Given the description of an element on the screen output the (x, y) to click on. 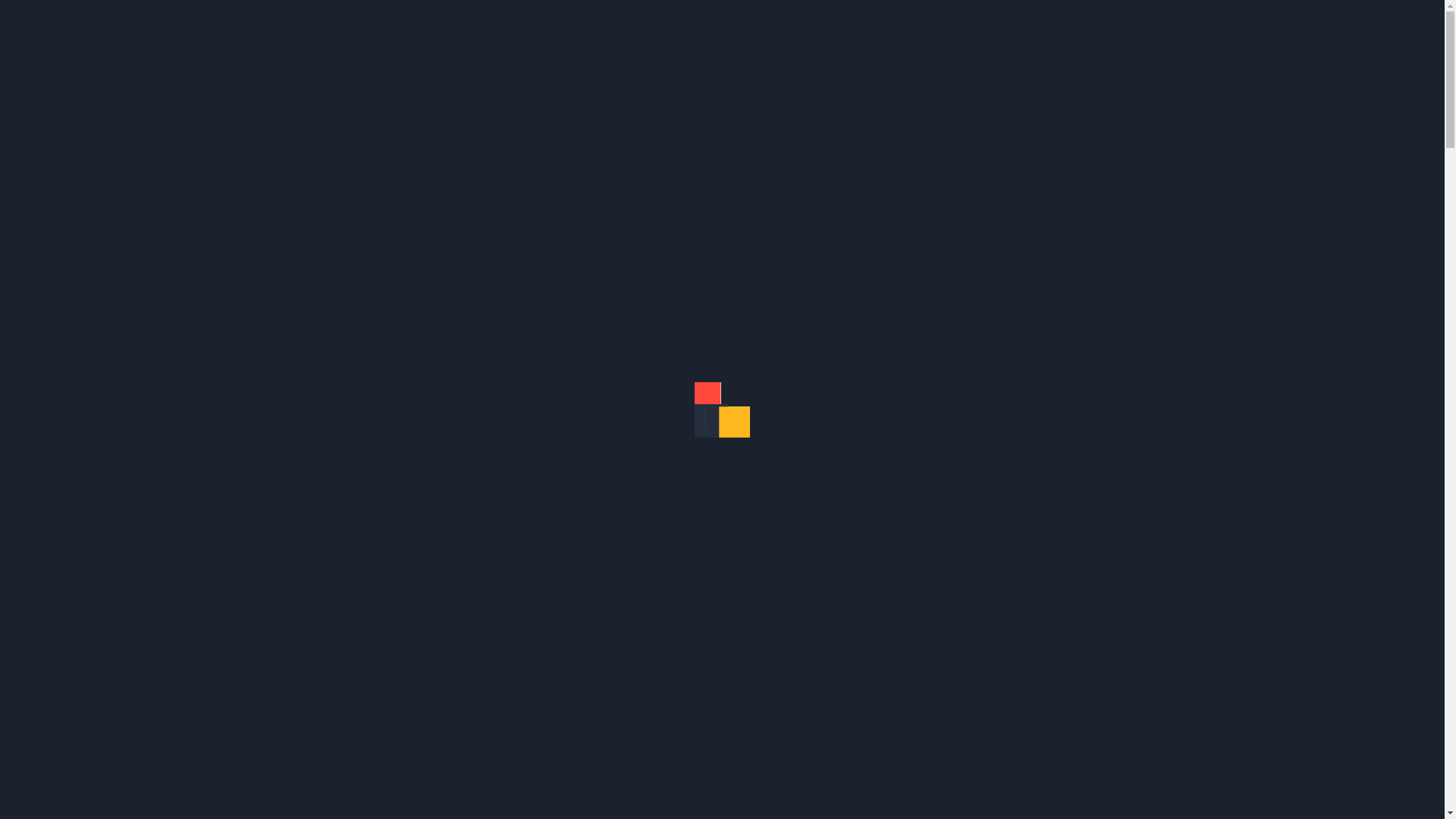
Viber Element type: hover (1355, 23)
Advertisement Element type: hover (721, 162)
Telegram Element type: hover (1385, 23)
